Given the description of an element on the screen output the (x, y) to click on. 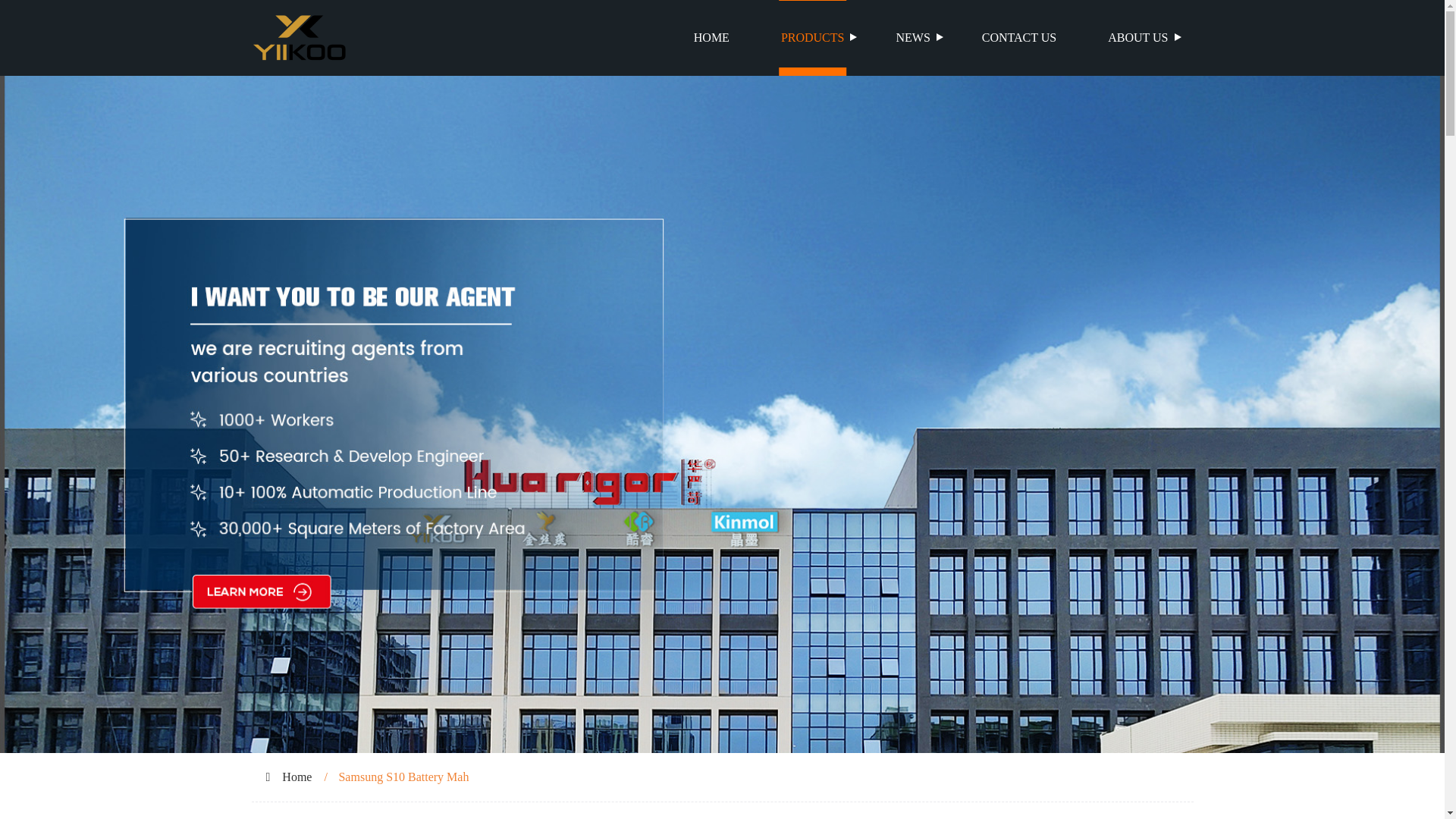
Home (296, 776)
CONTACT US (1018, 38)
PRODUCTS (812, 38)
